Given the description of an element on the screen output the (x, y) to click on. 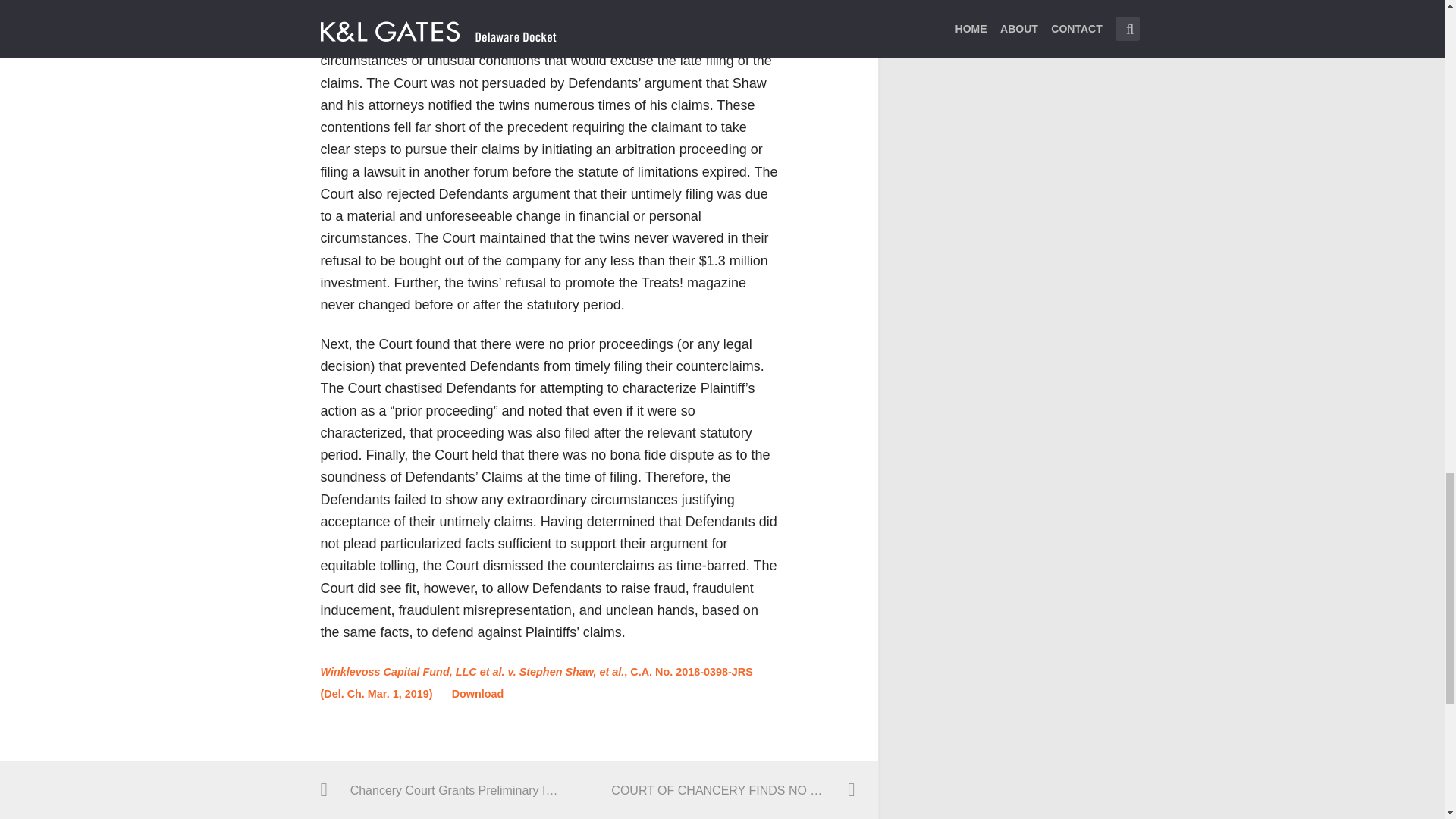
Download (478, 693)
